Given the description of an element on the screen output the (x, y) to click on. 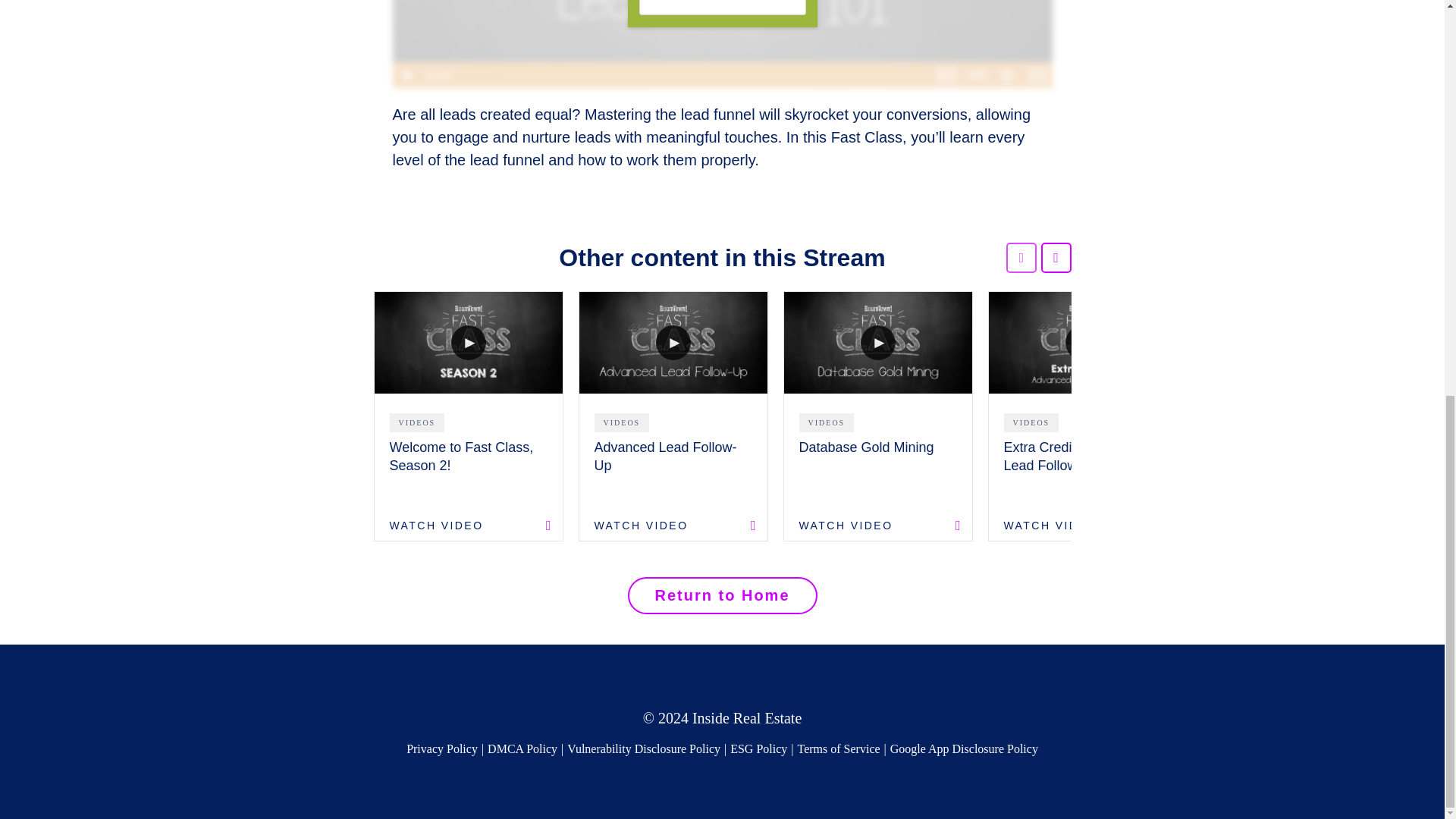
Lead Funnel 101 (722, 43)
First Name (722, 7)
